Given the description of an element on the screen output the (x, y) to click on. 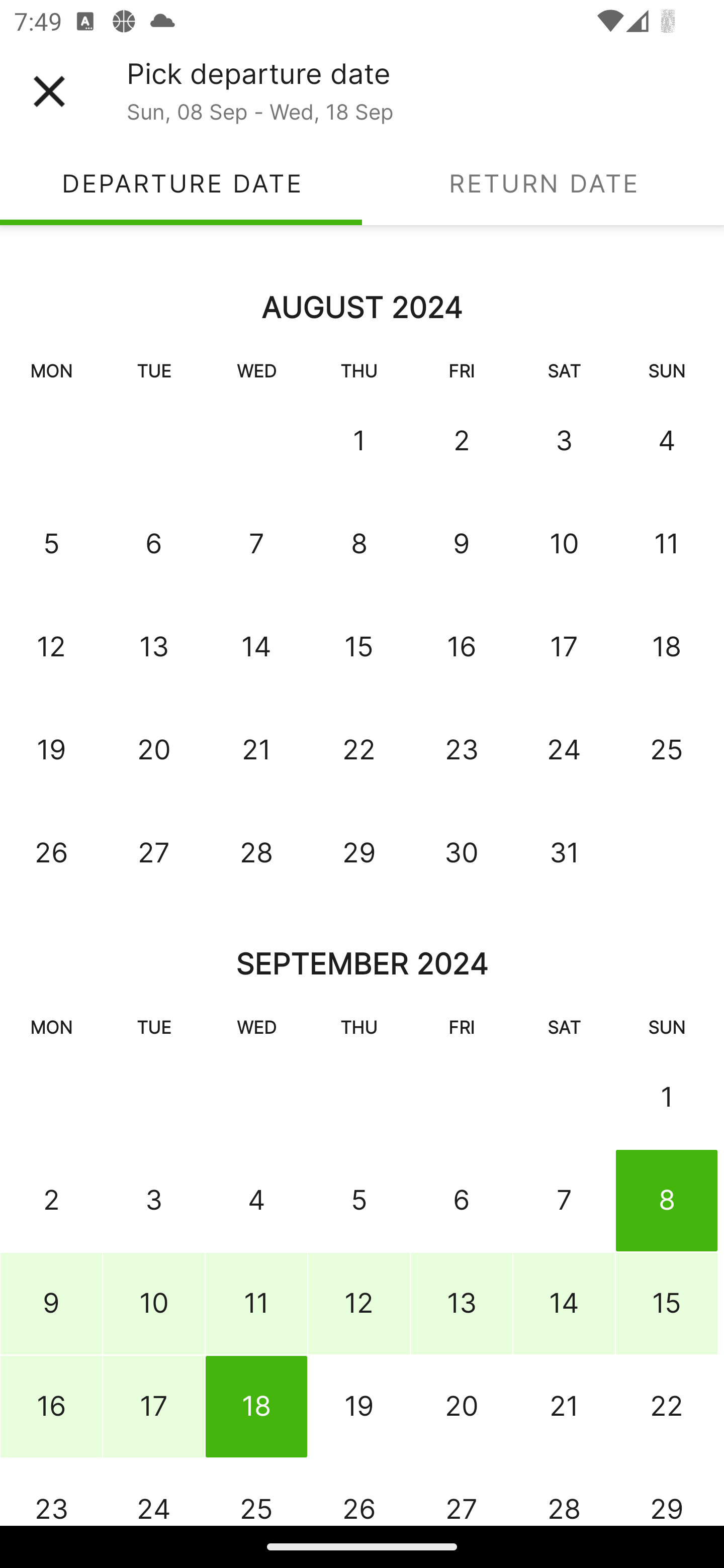
Return Date RETURN DATE (543, 183)
